Given the description of an element on the screen output the (x, y) to click on. 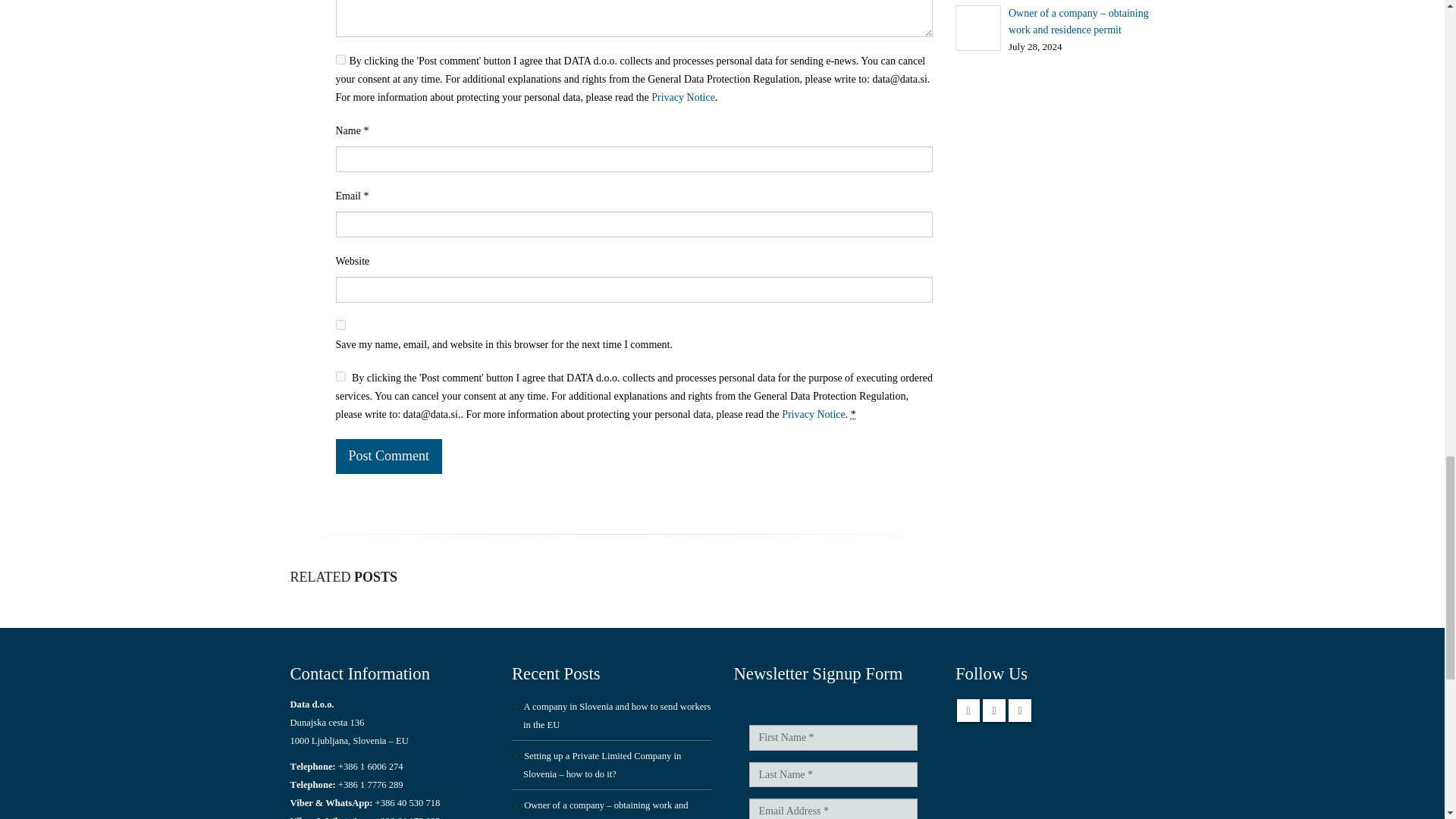
1 (339, 376)
yes (339, 325)
1 (339, 59)
Post Comment (387, 456)
Twitter (994, 710)
Facebook (967, 710)
Privacy Notice (813, 414)
Privacy Notice (682, 97)
